Given the description of an element on the screen output the (x, y) to click on. 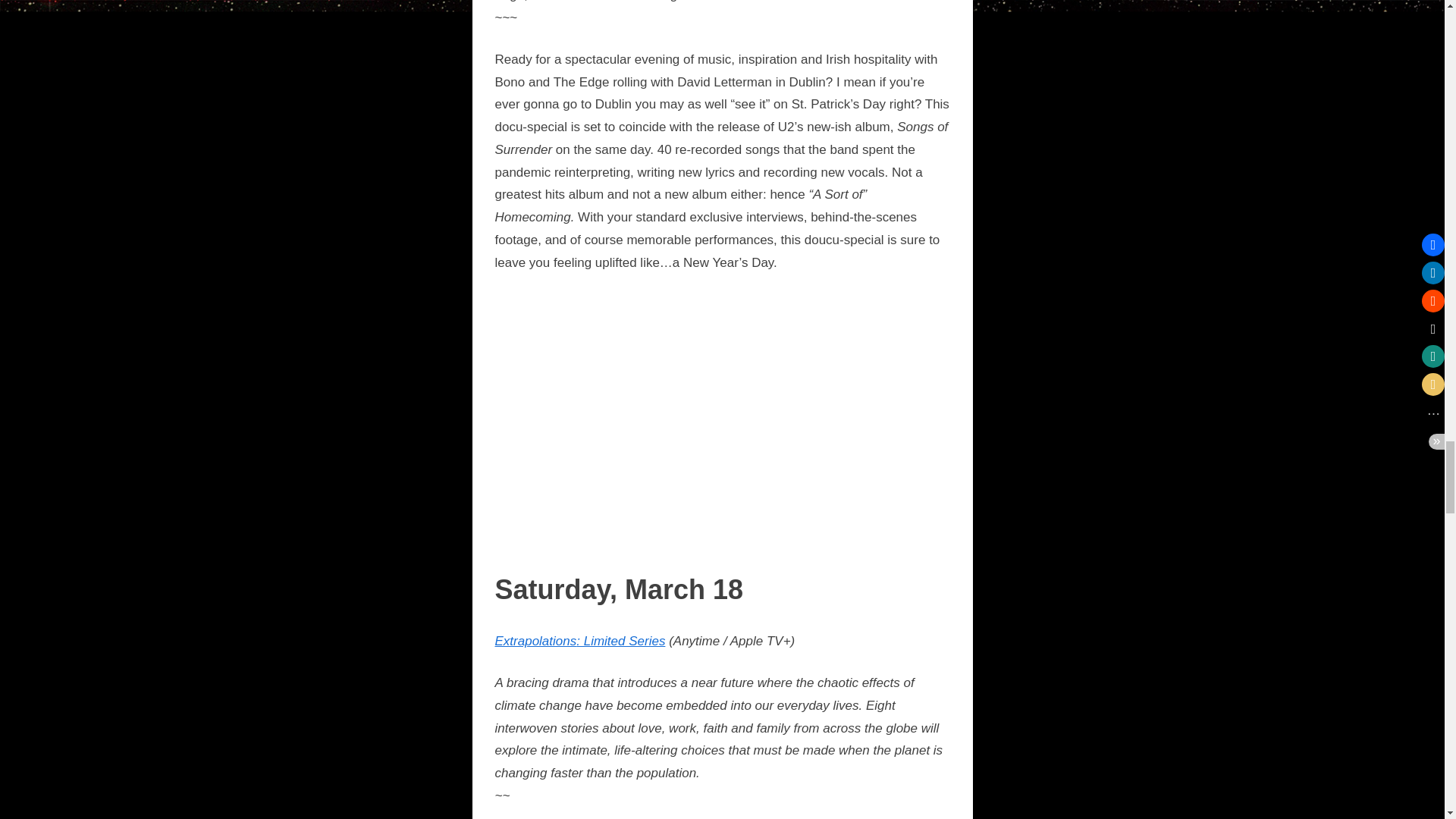
: Limited Series (620, 640)
Extrapolations (535, 640)
